Given the description of an element on the screen output the (x, y) to click on. 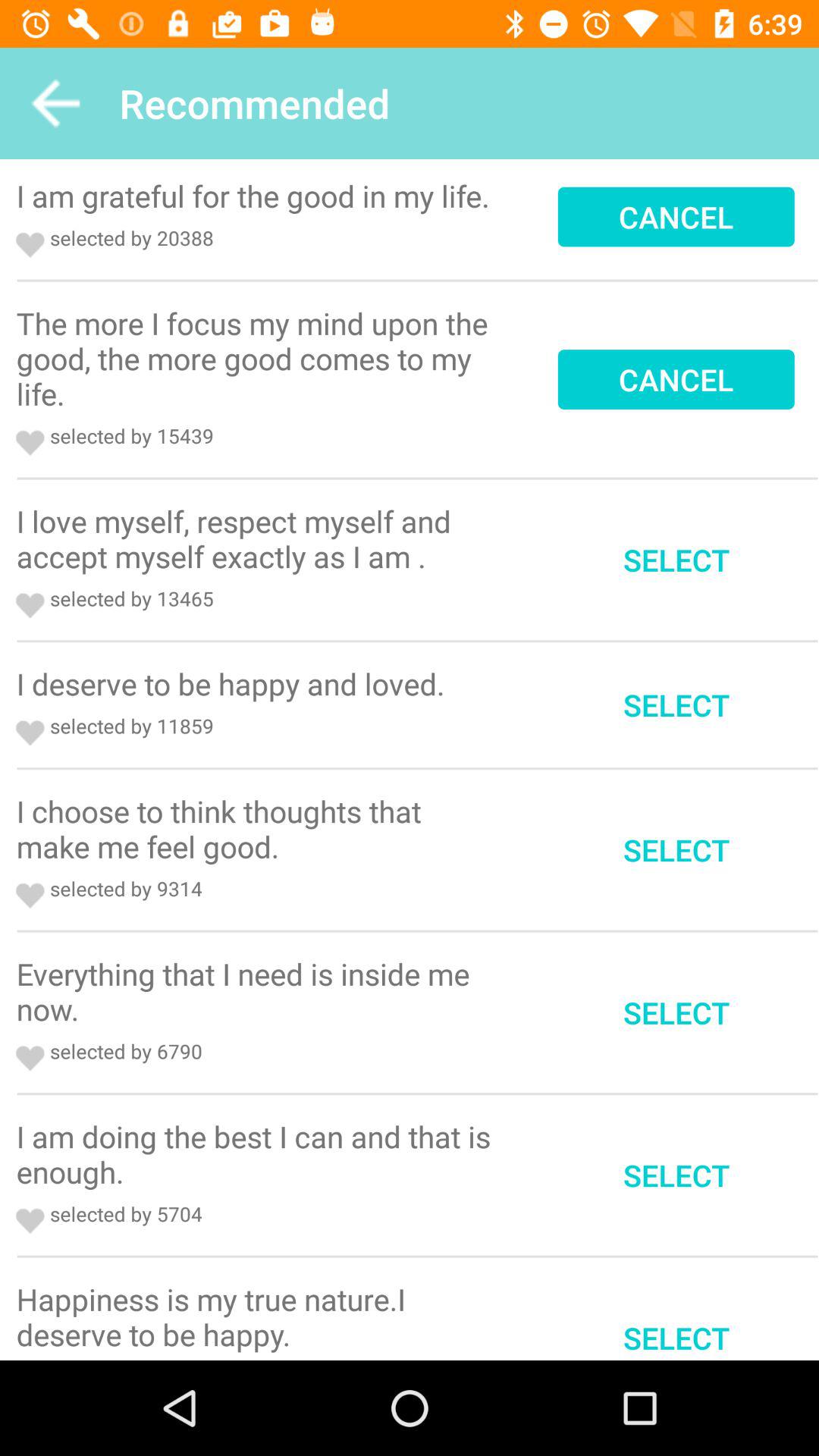
swipe to the i love myself item (258, 538)
